Given the description of an element on the screen output the (x, y) to click on. 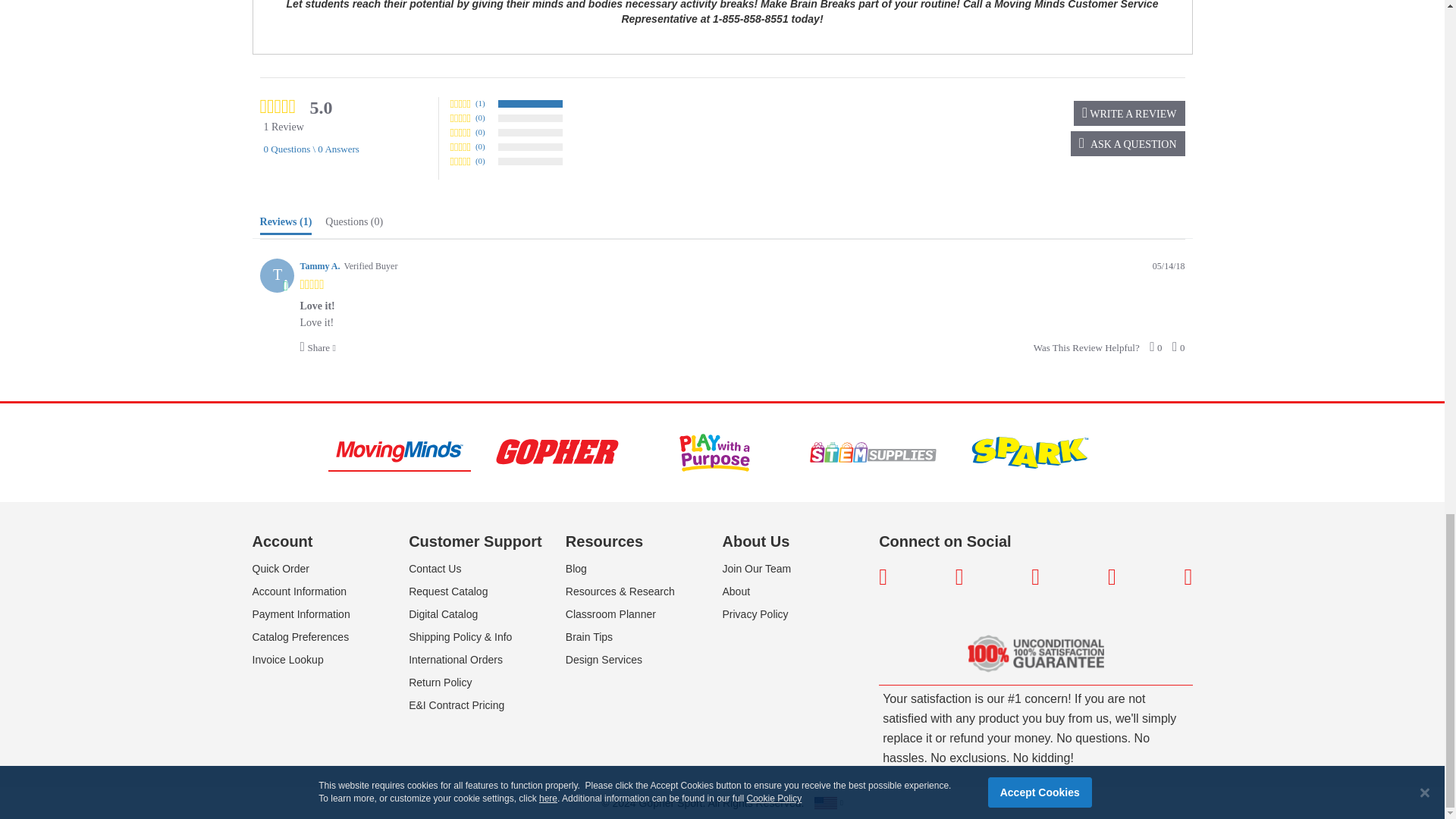
Play with a Purpose (714, 452)
Play with a Purpose (714, 452)
Stem Supplies (872, 452)
Gopher Sport (556, 451)
SPARK curriculum (1029, 452)
Stem Supplies (871, 452)
Gopher Sport (555, 452)
Moving Minds (398, 452)
Moving Minds (398, 451)
